Given the description of an element on the screen output the (x, y) to click on. 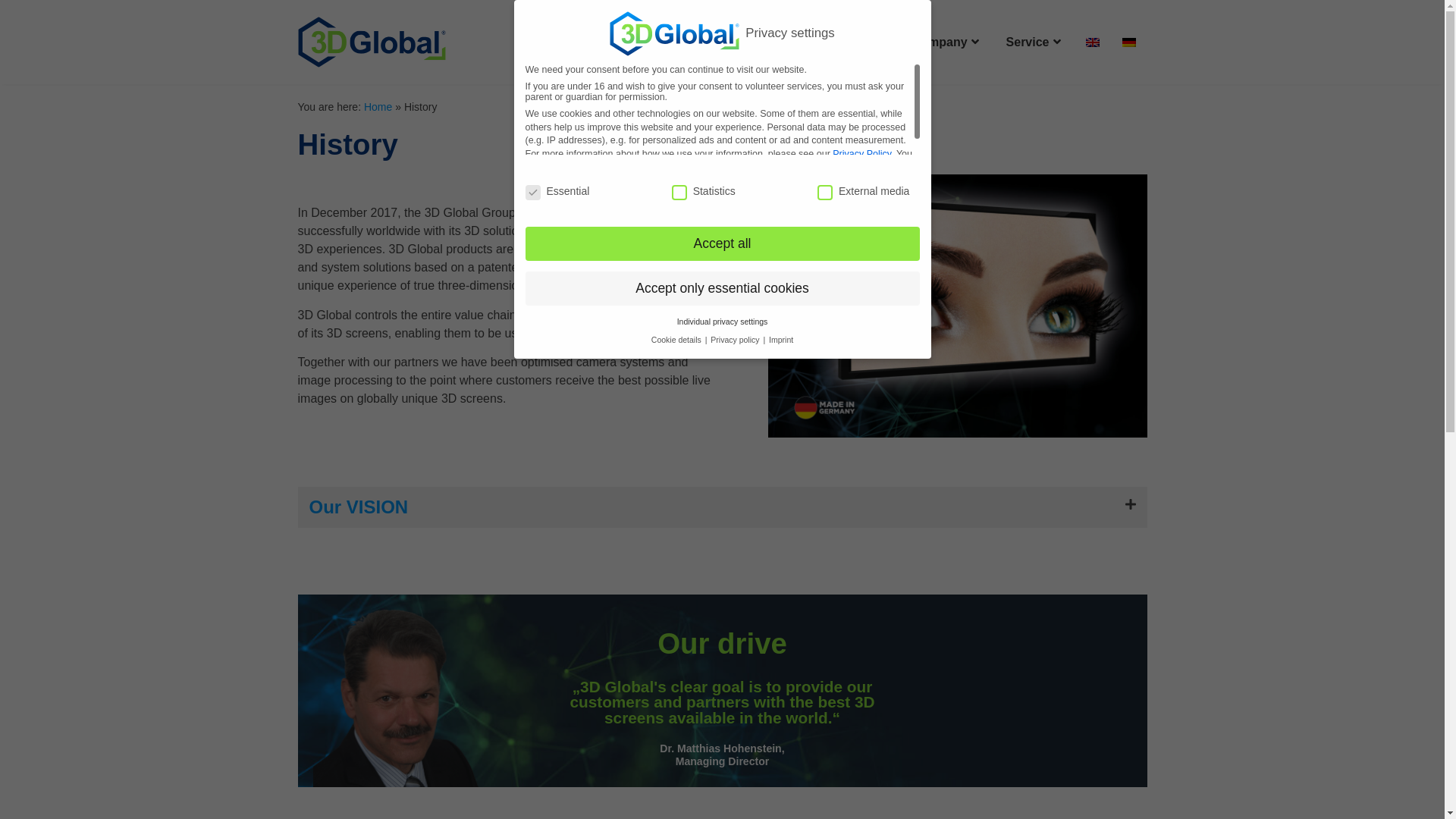
Cookie details Element type: text (677, 339)
Imprint Element type: text (780, 339)
3D Digitisation Element type: text (836, 41)
Home Element type: text (546, 41)
Privacy policy Element type: text (735, 339)
Individual privacy settings Element type: text (722, 321)
preferences Element type: text (774, 166)
Accept only essential cookies Element type: text (721, 288)
Privacy Policy Element type: text (861, 153)
Home Element type: text (378, 106)
Our VISION Element type: text (358, 506)
Products Element type: text (622, 41)
Accept all Element type: text (721, 243)
Technology Element type: text (721, 41)
Company Element type: text (945, 41)
Service Element type: text (1033, 41)
